Given the description of an element on the screen output the (x, y) to click on. 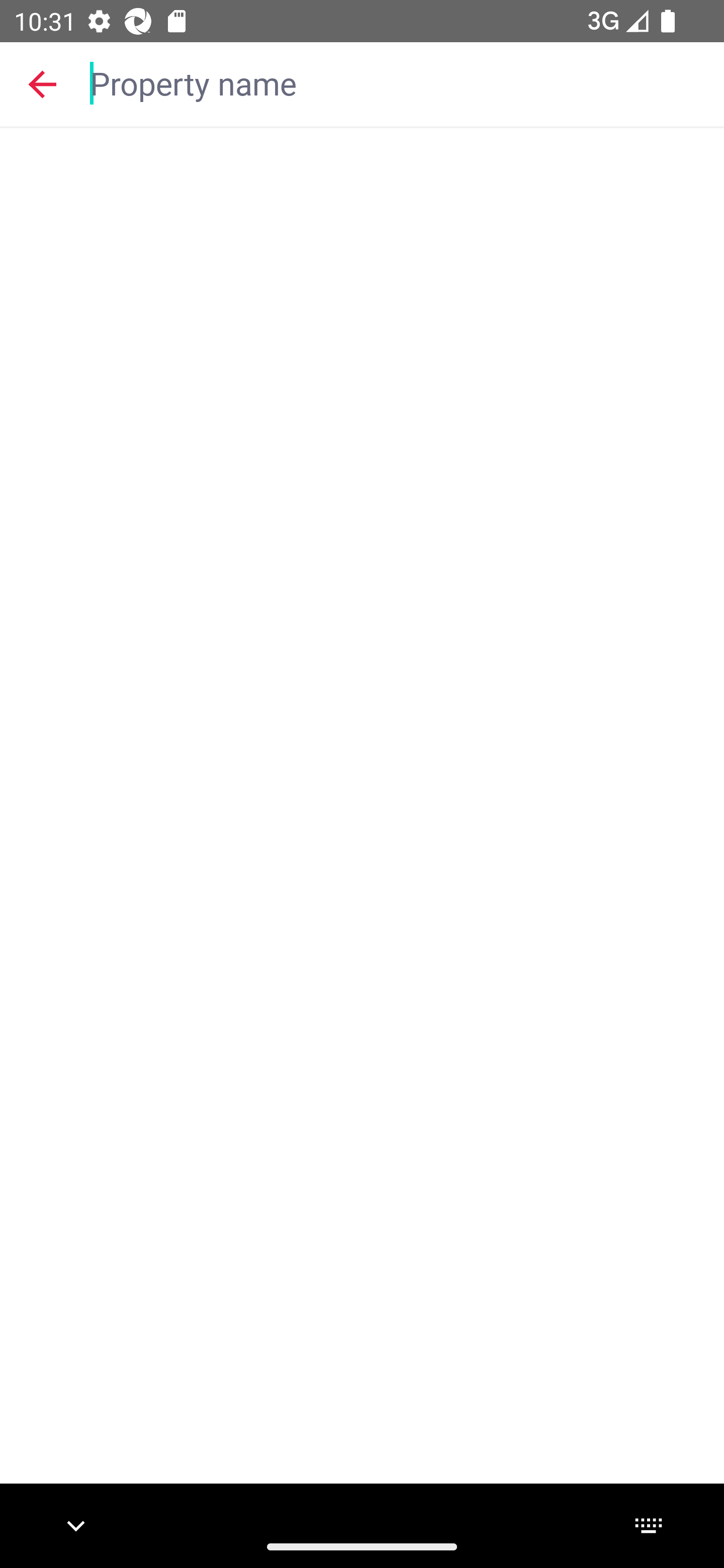
Property name,  (397, 82)
Back to search screen (41, 83)
